Given the description of an element on the screen output the (x, y) to click on. 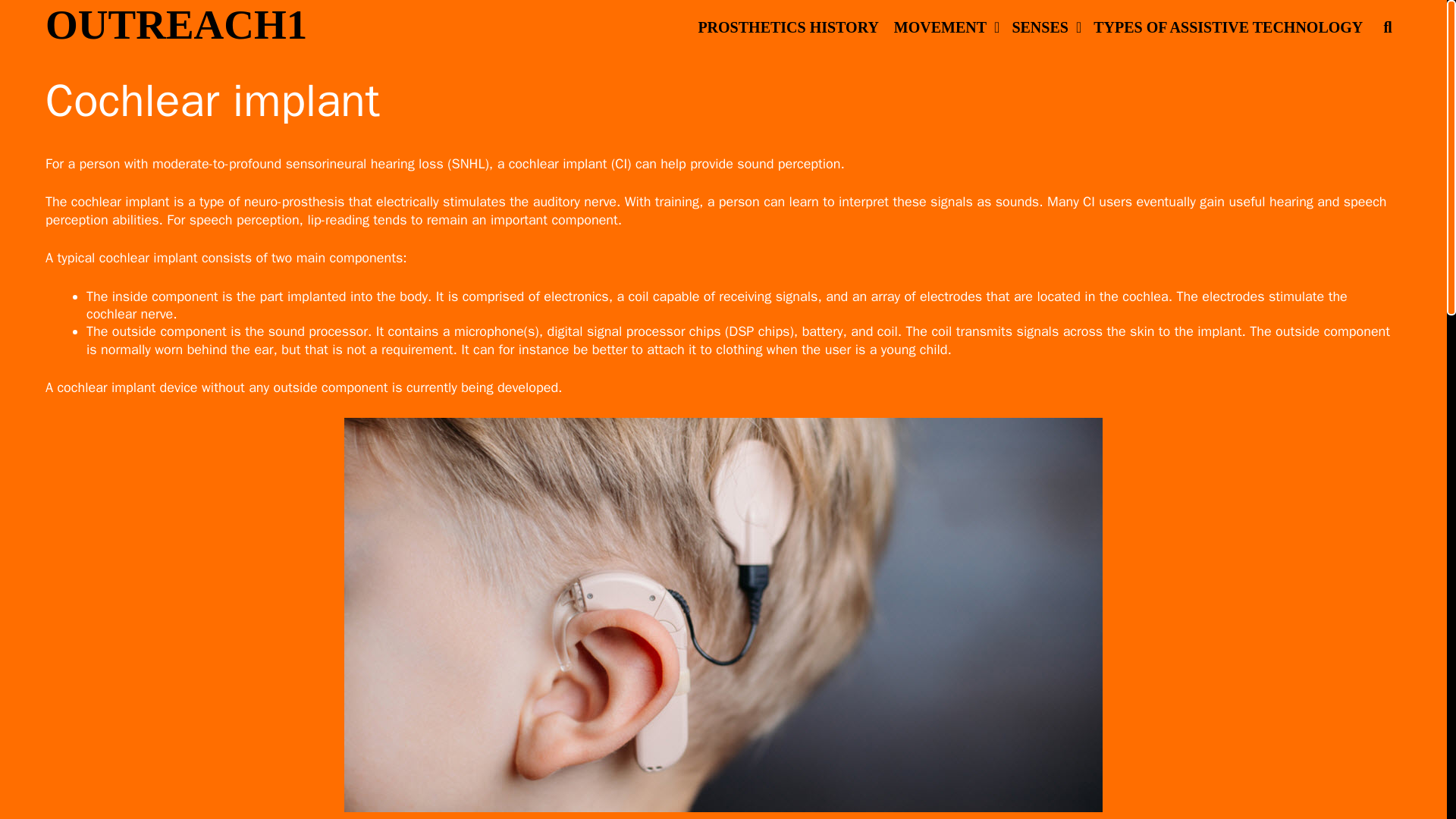
TYPES OF ASSISTIVE TECHNOLOGY (1228, 27)
Search (357, 27)
SENSES (1045, 27)
OUTREACH1 (176, 24)
Search (41, 22)
MOVEMENT (945, 27)
PROSTHETICS HISTORY (787, 27)
